Given the description of an element on the screen output the (x, y) to click on. 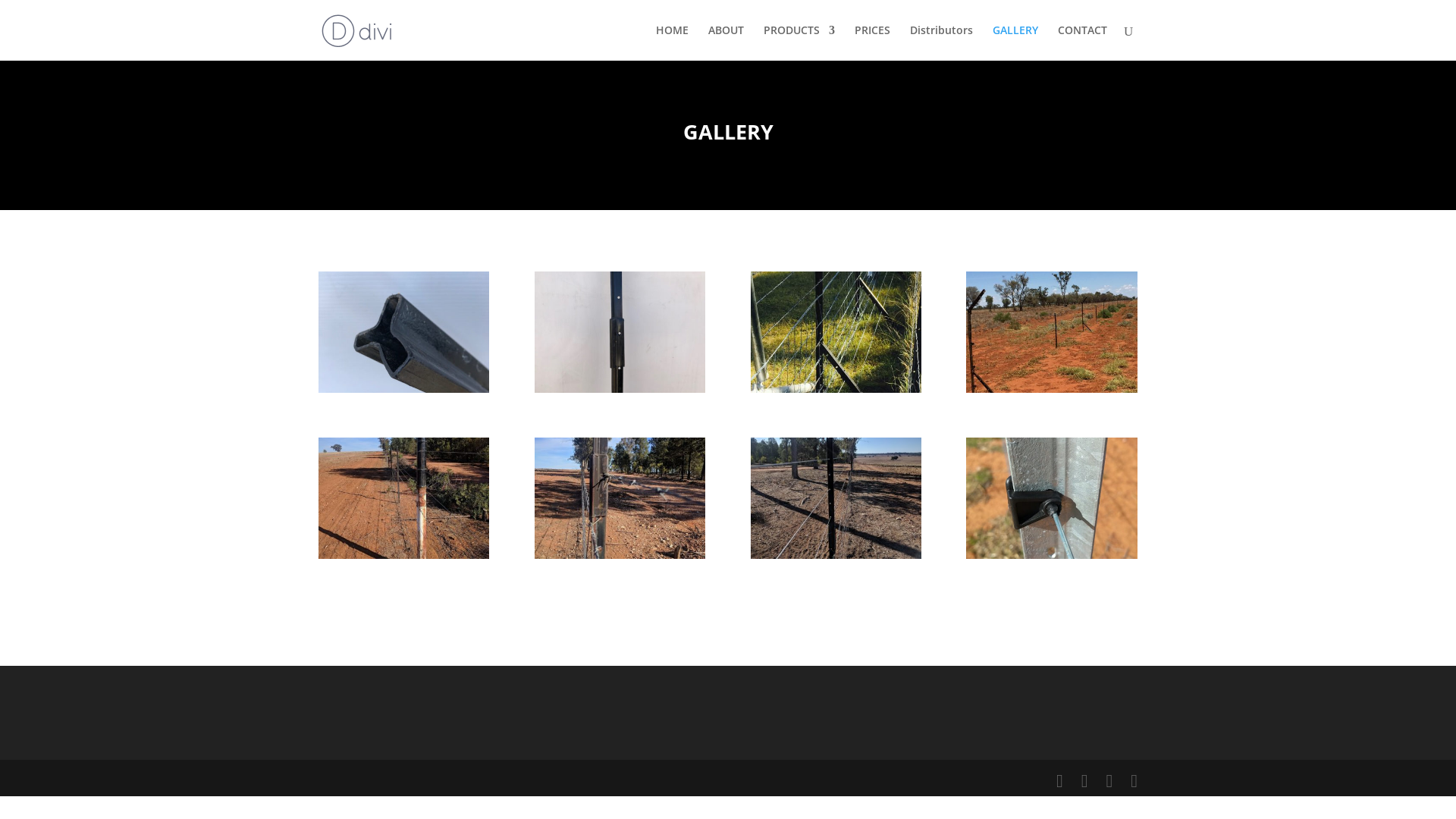
GALLERY Element type: text (1015, 42)
IMG_1258 Element type: hover (619, 388)
IMG_20180517_142208 (1) Element type: hover (835, 554)
HOME Element type: text (671, 42)
CONTACT Element type: text (1082, 42)
PRICES Element type: text (872, 42)
PRODUCTS Element type: text (798, 42)
IMG_20180517_143114 (1) Element type: hover (619, 554)
ABOUT Element type: text (725, 42)
IMG_20180517_142410 Element type: hover (403, 554)
Distributors Element type: text (941, 42)
IMG_1267 Element type: hover (403, 388)
IMG_20180703_124614 (1) Element type: hover (1051, 554)
